Given the description of an element on the screen output the (x, y) to click on. 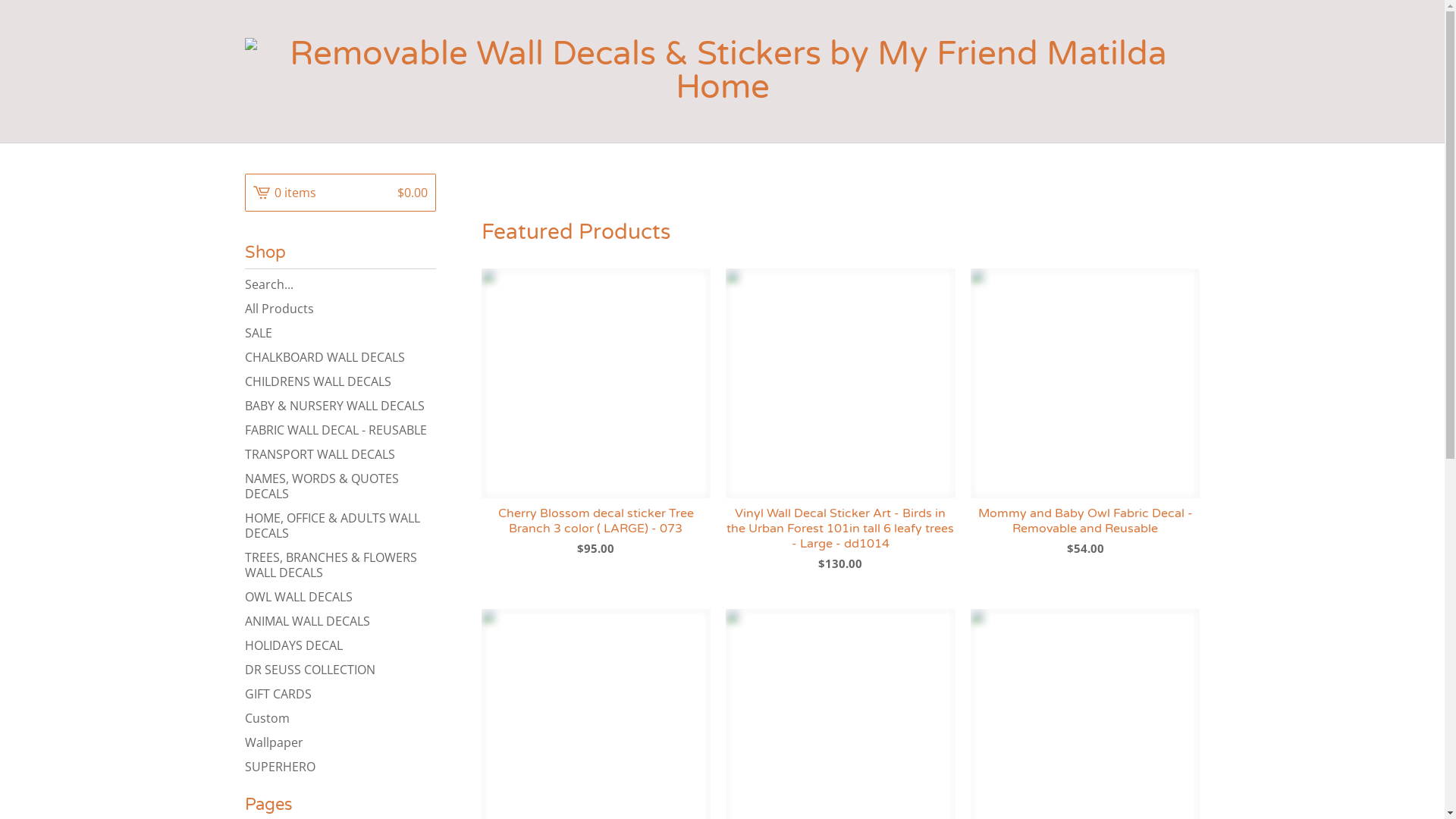
DR SEUSS COLLECTION Element type: text (339, 669)
TRANSPORT WALL DECALS Element type: text (339, 454)
Custom Element type: text (339, 718)
GIFT CARDS Element type: text (339, 693)
CHILDRENS WALL DECALS Element type: text (339, 381)
NAMES, WORDS & QUOTES DECALS Element type: text (339, 485)
Wallpaper Element type: text (339, 742)
SALE Element type: text (339, 332)
FABRIC WALL DECAL - REUSABLE Element type: text (339, 429)
HOME, OFFICE & ADULTS WALL DECALS Element type: text (339, 525)
HOLIDAYS DECAL Element type: text (339, 645)
ANIMAL WALL DECALS Element type: text (339, 620)
BABY & NURSERY WALL DECALS Element type: text (339, 405)
TREES, BRANCHES & FLOWERS WALL DECALS Element type: text (339, 564)
SUPERHERO Element type: text (339, 766)
All Products Element type: text (339, 308)
Removable Wall Decals & Stickers by My Friend Matilda Element type: hover (721, 70)
OWL WALL DECALS Element type: text (339, 596)
CHALKBOARD WALL DECALS Element type: text (339, 357)
0 items
$0.00 Element type: text (339, 192)
